Given the description of an element on the screen output the (x, y) to click on. 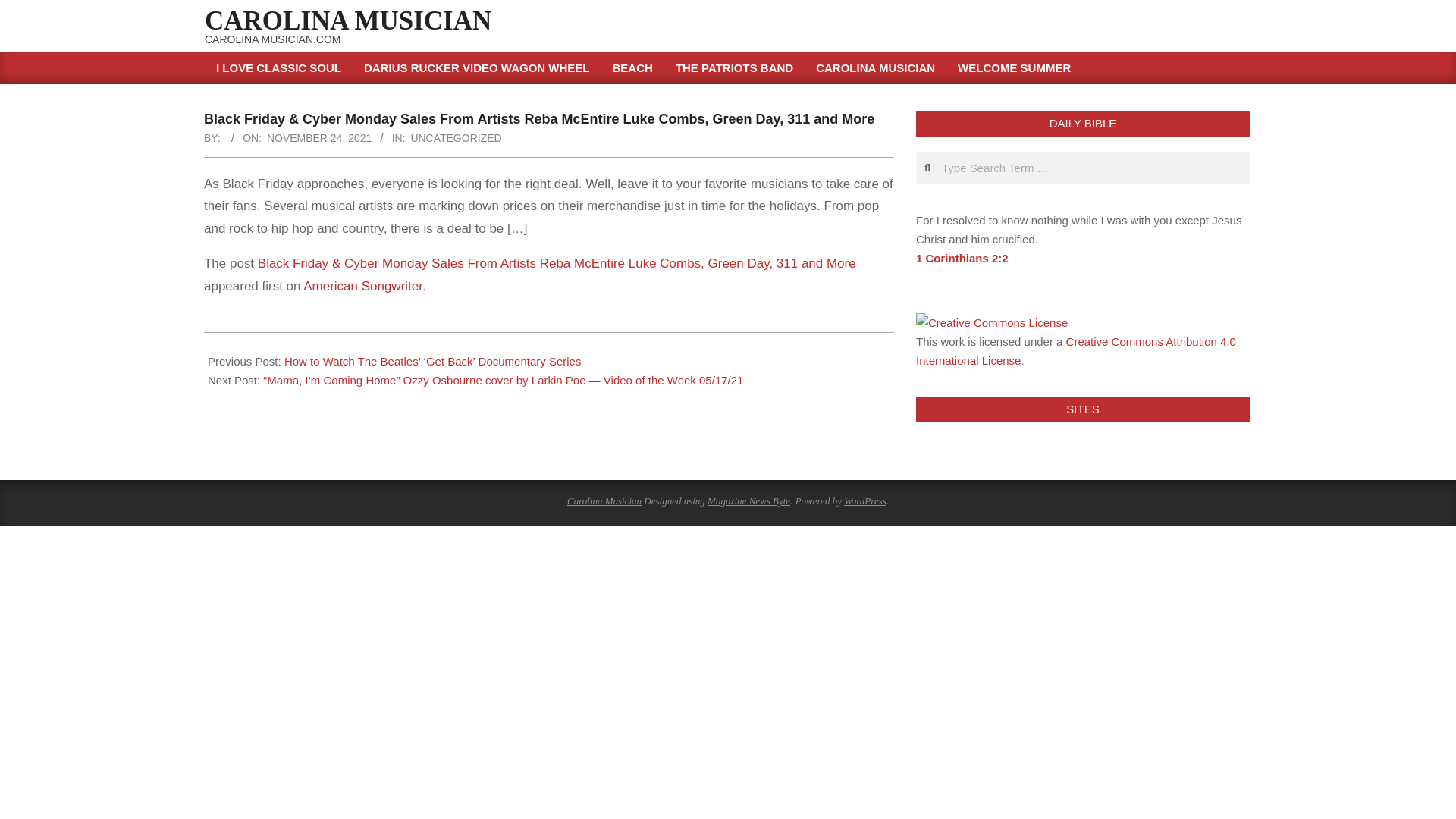
CAROLINA MUSICIAN (348, 20)
WordPress (865, 500)
1 Corinthians 2:2 (962, 257)
WELCOME SUMMER (1013, 68)
American Songwriter (362, 286)
DARIUS RUCKER VIDEO WAGON WHEEL (476, 68)
THE PATRIOTS BAND (734, 68)
I LOVE CLASSIC SOUL (278, 68)
CAROLINA MUSICIAN (875, 68)
Magazine News Byte WordPress Theme (748, 500)
Magazine News Byte (748, 500)
Carolina Musician (604, 500)
BEACH (632, 68)
Creative Commons Attribution 4.0 International License (1075, 350)
Wednesday, November 24, 2021, 9:21 pm (318, 137)
